Given the description of an element on the screen output the (x, y) to click on. 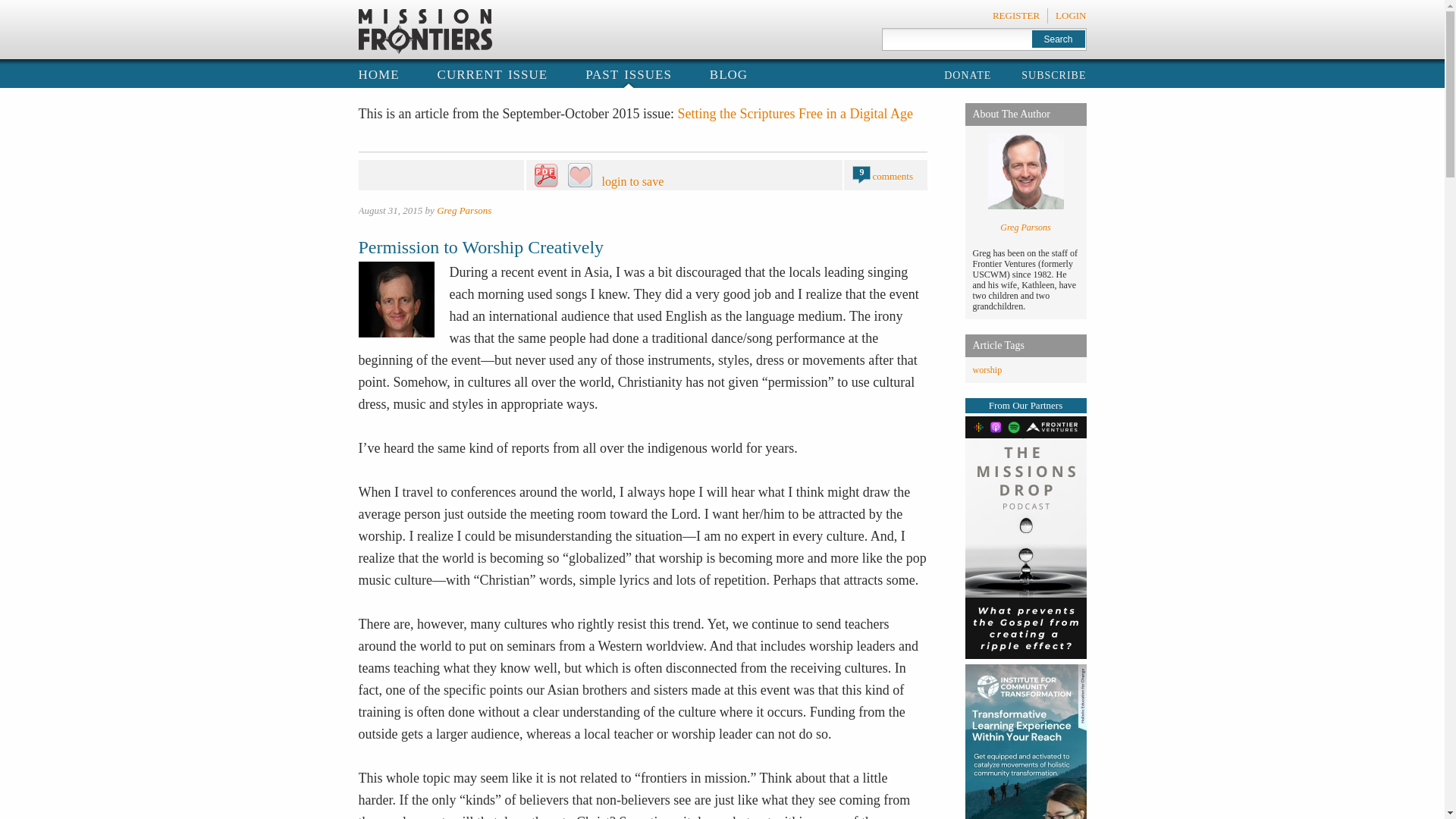
LOGIN (1070, 15)
Setting the Scriptures Free in a Digital Age (795, 113)
Search (1057, 38)
worship (986, 369)
REGISTER (1015, 15)
past issues (628, 72)
login to save (666, 175)
Search (1057, 38)
donate (967, 74)
blog (729, 72)
home (378, 72)
comments (892, 175)
subscribe (1054, 74)
Greg Parsons (464, 210)
current issue (493, 72)
